Given the description of an element on the screen output the (x, y) to click on. 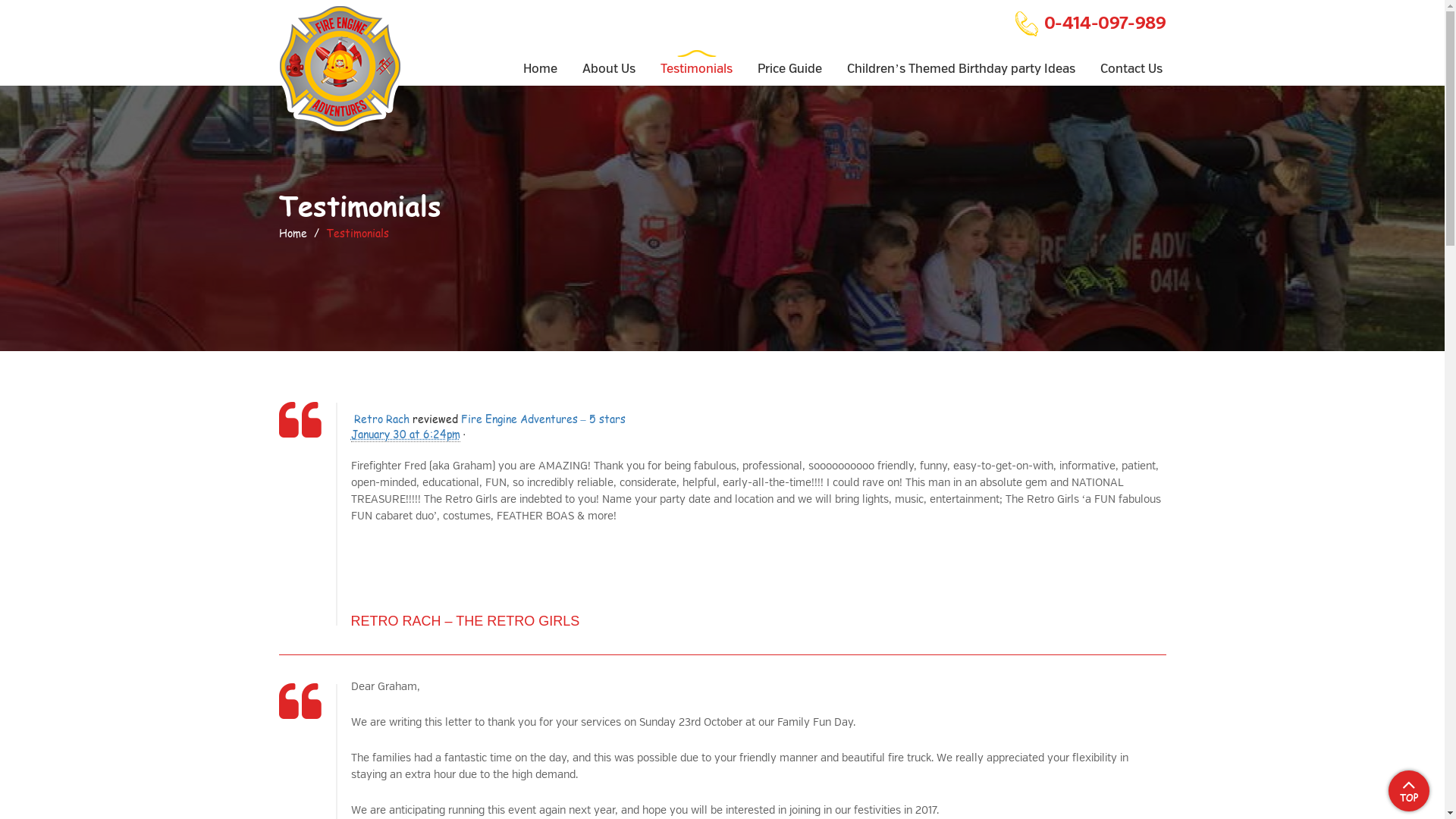
Price Guide Element type: text (789, 59)
Retro Rach Element type: text (380, 418)
Home Element type: text (540, 59)
0-414-097-989 Element type: text (1090, 22)
Home Element type: text (293, 232)
About Us Element type: text (608, 59)
Fire Engine Adventures Element type: hover (339, 65)
Contact Us Element type: text (1131, 59)
January 30 at 6:24pm Element type: text (404, 434)
Testimonials Element type: text (696, 59)
